Given the description of an element on the screen output the (x, y) to click on. 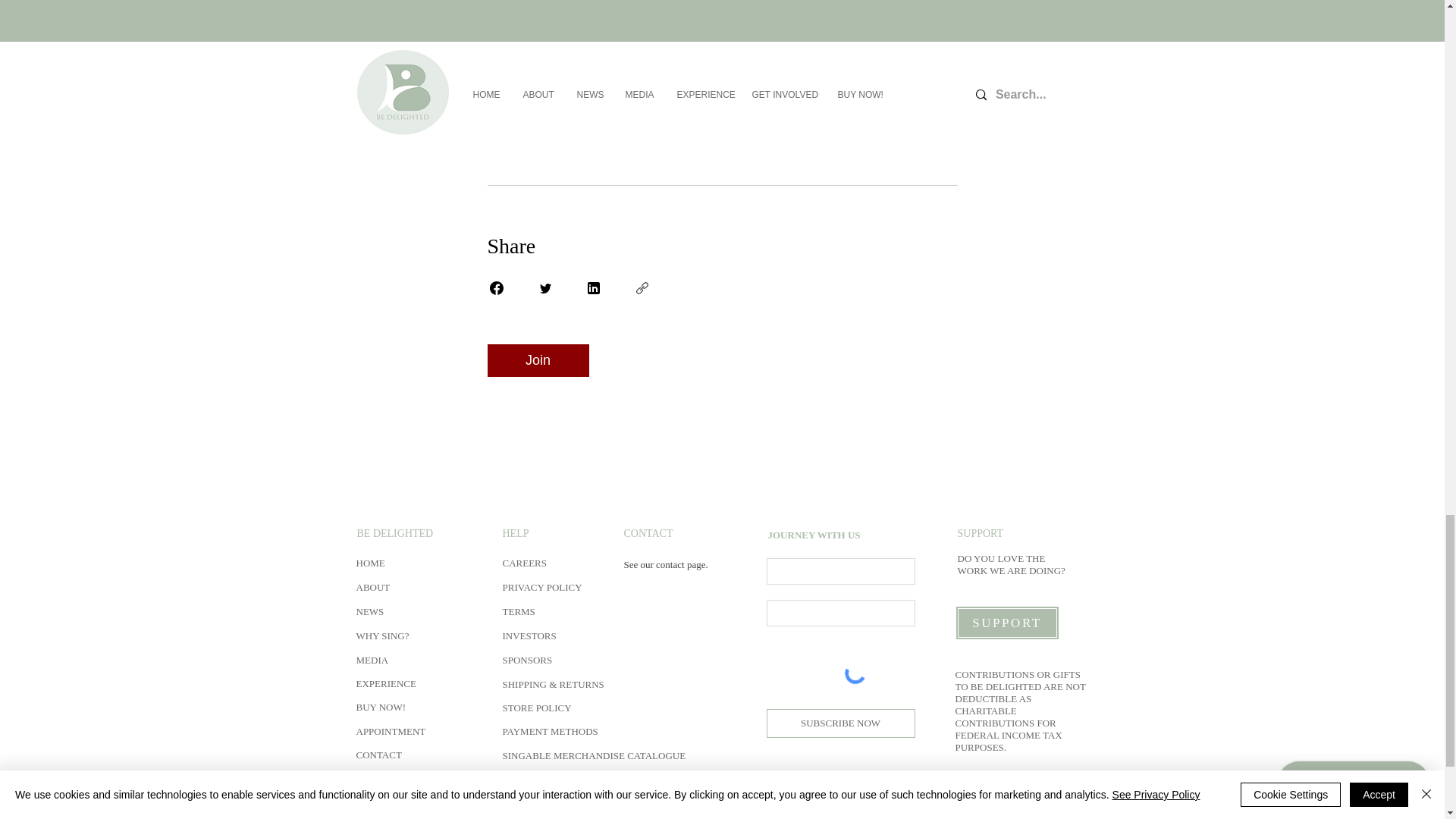
CONTACT (378, 754)
BUY NOW! (381, 706)
MEDIA  (373, 659)
HOME (370, 562)
EXPERIENCE (386, 683)
WHY SING? (382, 635)
ABOUT (373, 586)
APPOINTMENT (391, 731)
Join (537, 359)
